Given the description of an element on the screen output the (x, y) to click on. 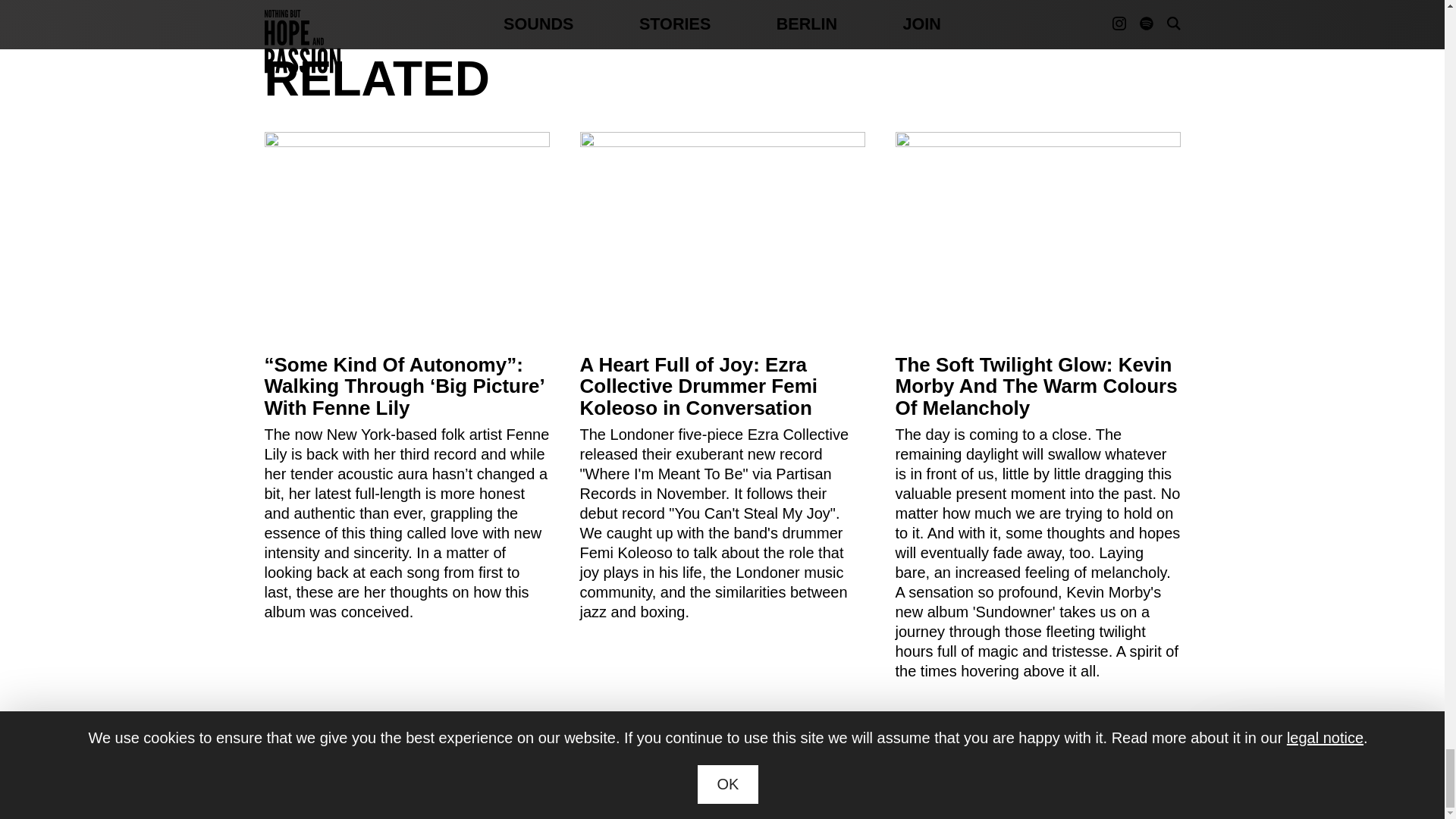
Privacy Policy (889, 788)
Legal Notice (803, 788)
About (738, 788)
Mediakit (684, 788)
